Given the description of an element on the screen output the (x, y) to click on. 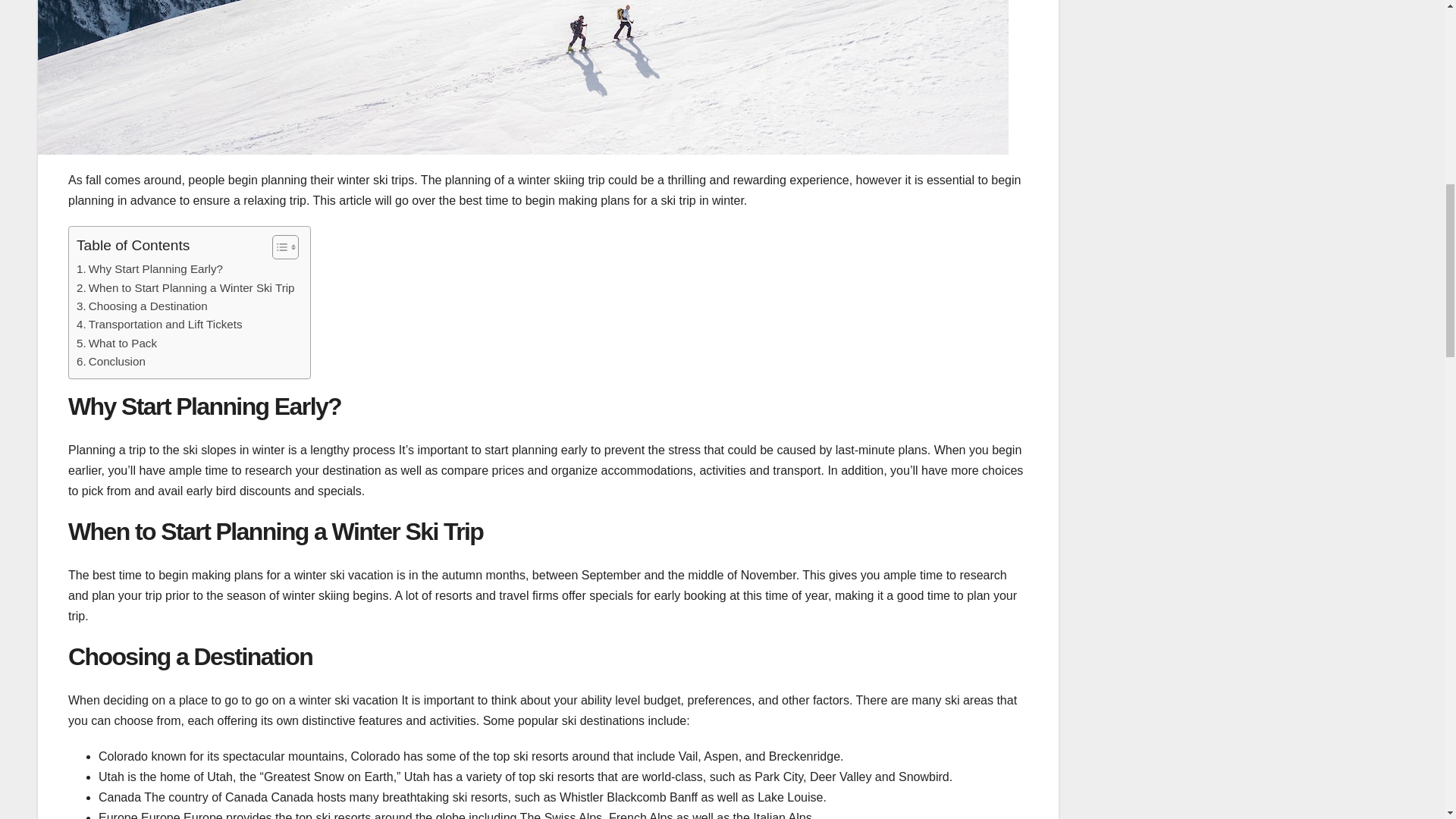
When to Start Planning a Winter Ski Trip (186, 288)
Conclusion (111, 361)
Why Start Planning Early? (149, 269)
What to Pack (117, 343)
Why Start Planning Early? (149, 269)
Transportation and Lift Tickets (160, 324)
What to Pack (117, 343)
When to Start Planning a Winter Ski Trip (186, 288)
Transportation and Lift Tickets (160, 324)
Choosing a Destination (142, 306)
Conclusion (111, 361)
Choosing a Destination (142, 306)
